Given the description of an element on the screen output the (x, y) to click on. 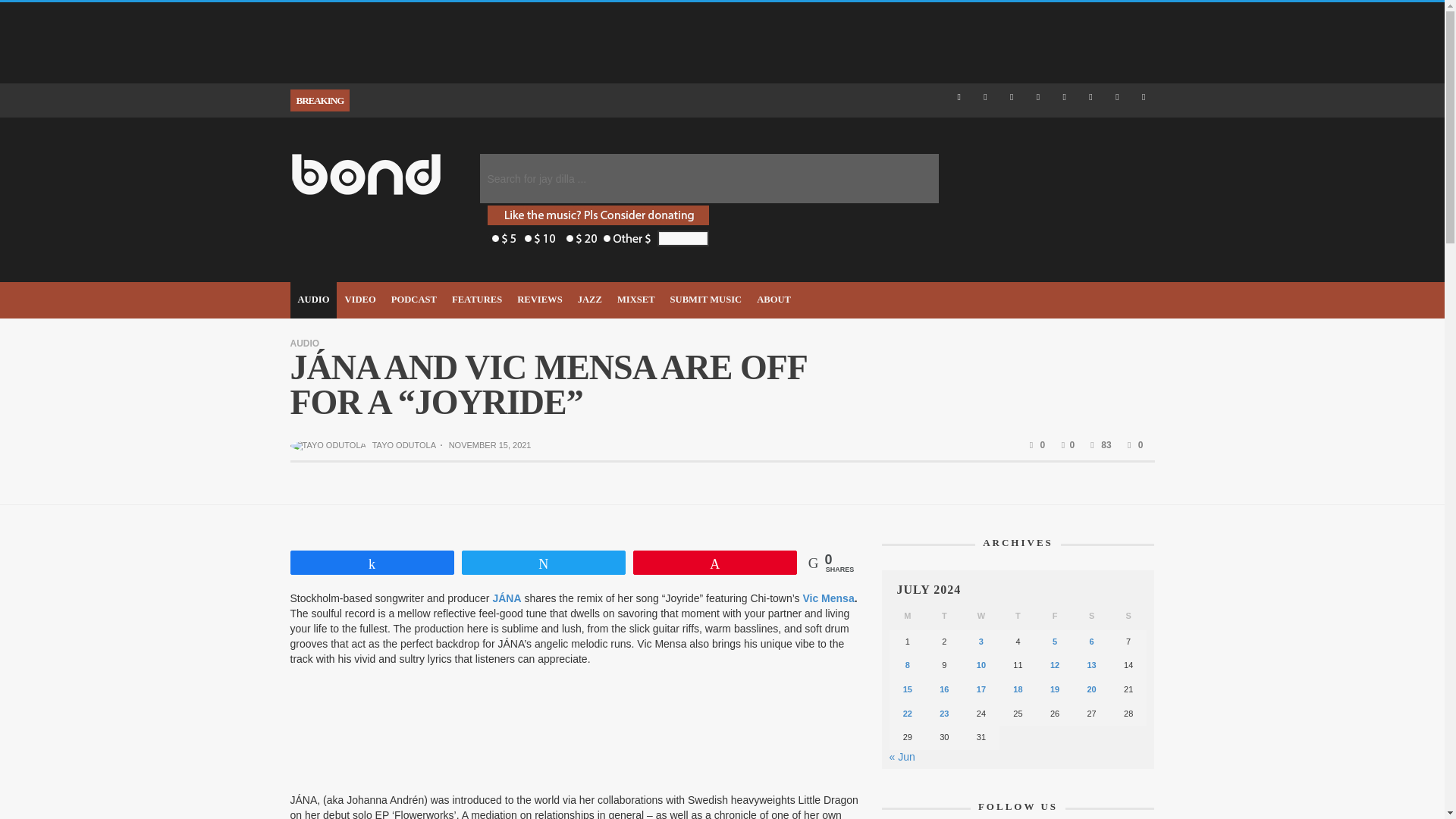
VIDEO (359, 299)
Advertisement (567, 41)
AUDIO (312, 299)
Tumblr (1091, 97)
LinkedIn (1038, 97)
Facebook (958, 97)
Pinterest (1063, 97)
Instagram (1012, 97)
Twitter (1117, 97)
Youtube (1143, 97)
